Given the description of an element on the screen output the (x, y) to click on. 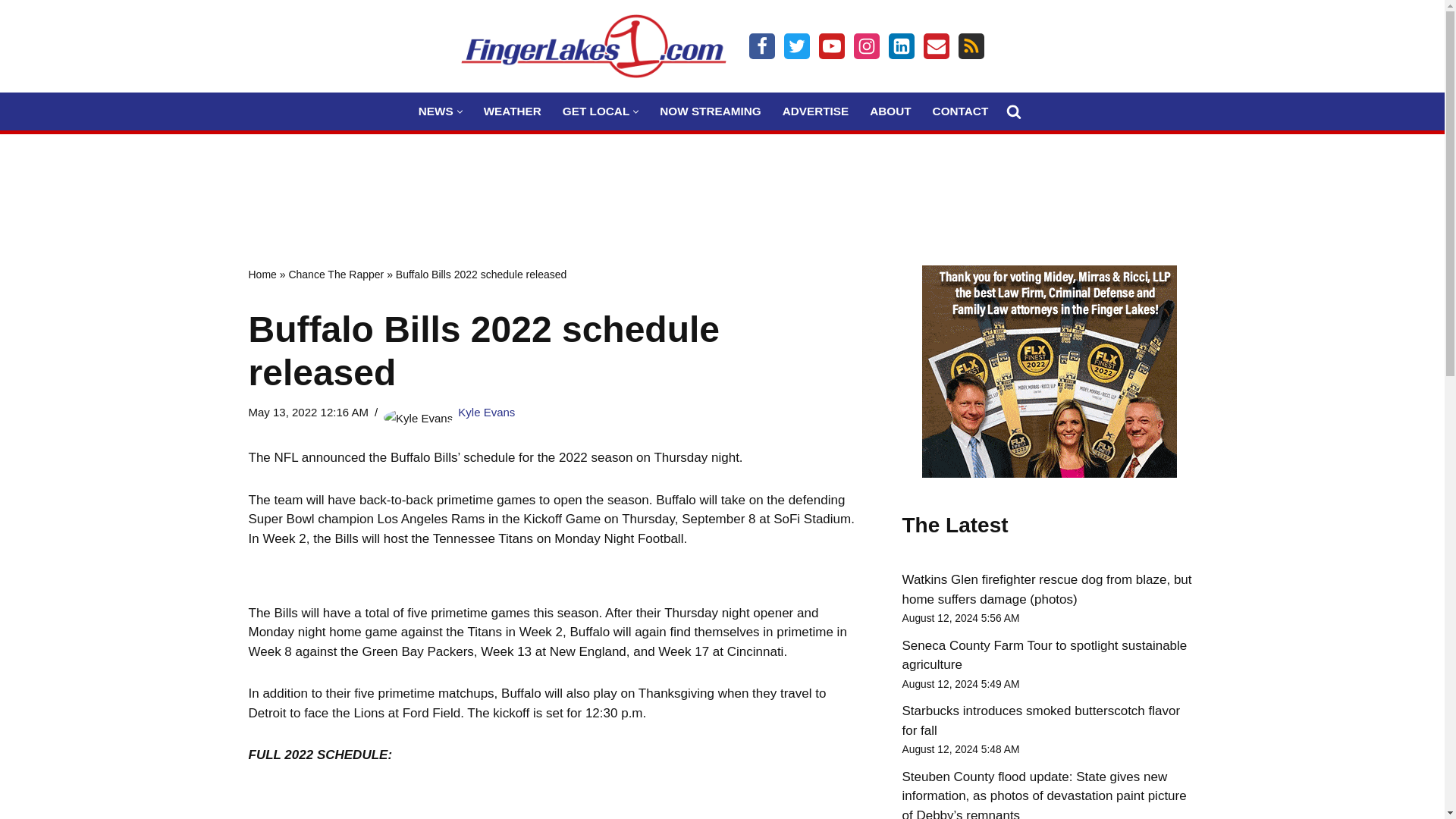
CONTACT (960, 111)
GET LOCAL (595, 111)
Feed (971, 45)
Posts by Kyle Evans (486, 411)
Instagram (866, 45)
Youtube (831, 45)
WEATHER (512, 111)
Email Us (936, 45)
Facebook (761, 45)
Skip to content (11, 31)
